Given the description of an element on the screen output the (x, y) to click on. 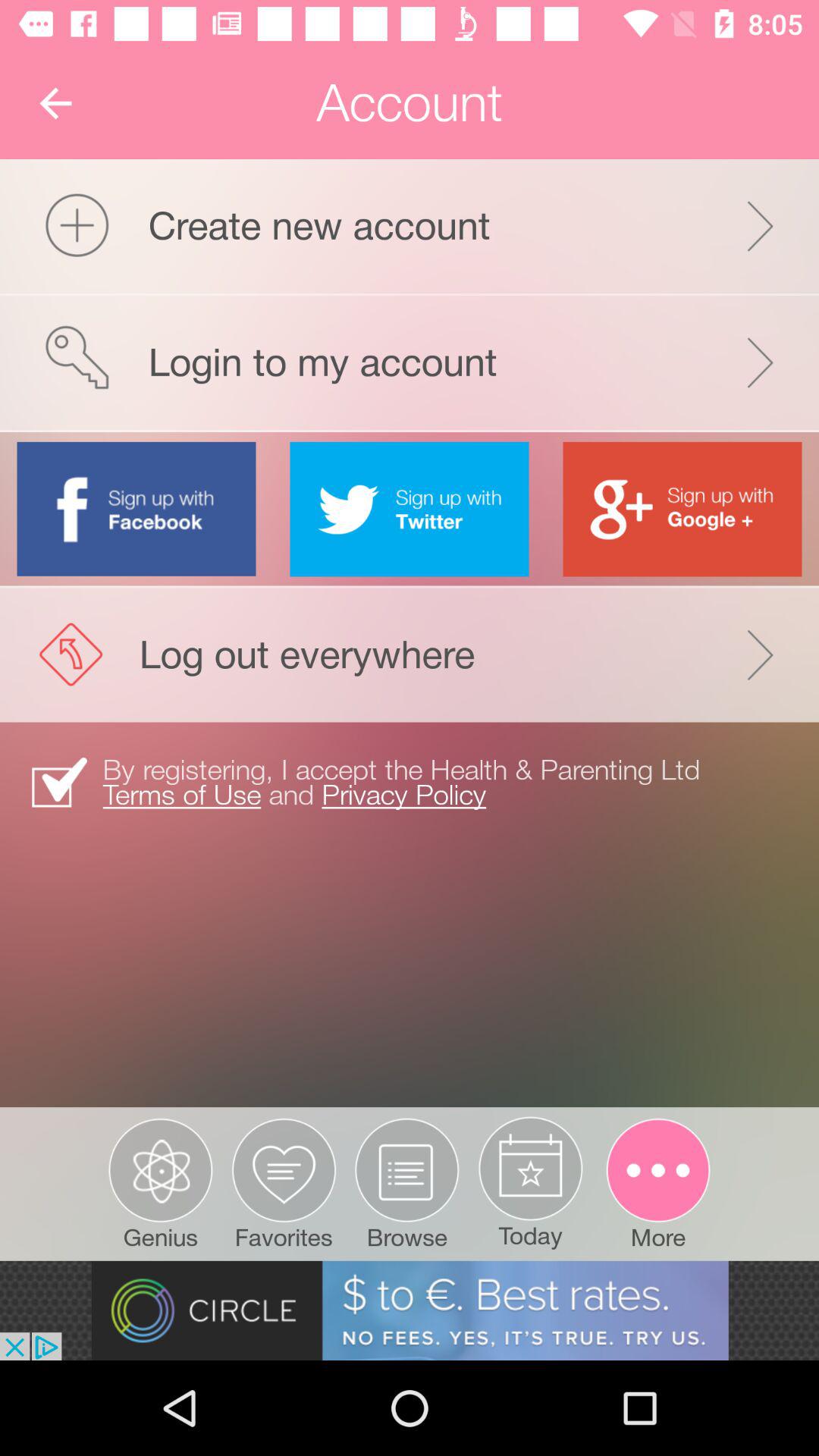
this option google plus (682, 508)
